Given the description of an element on the screen output the (x, y) to click on. 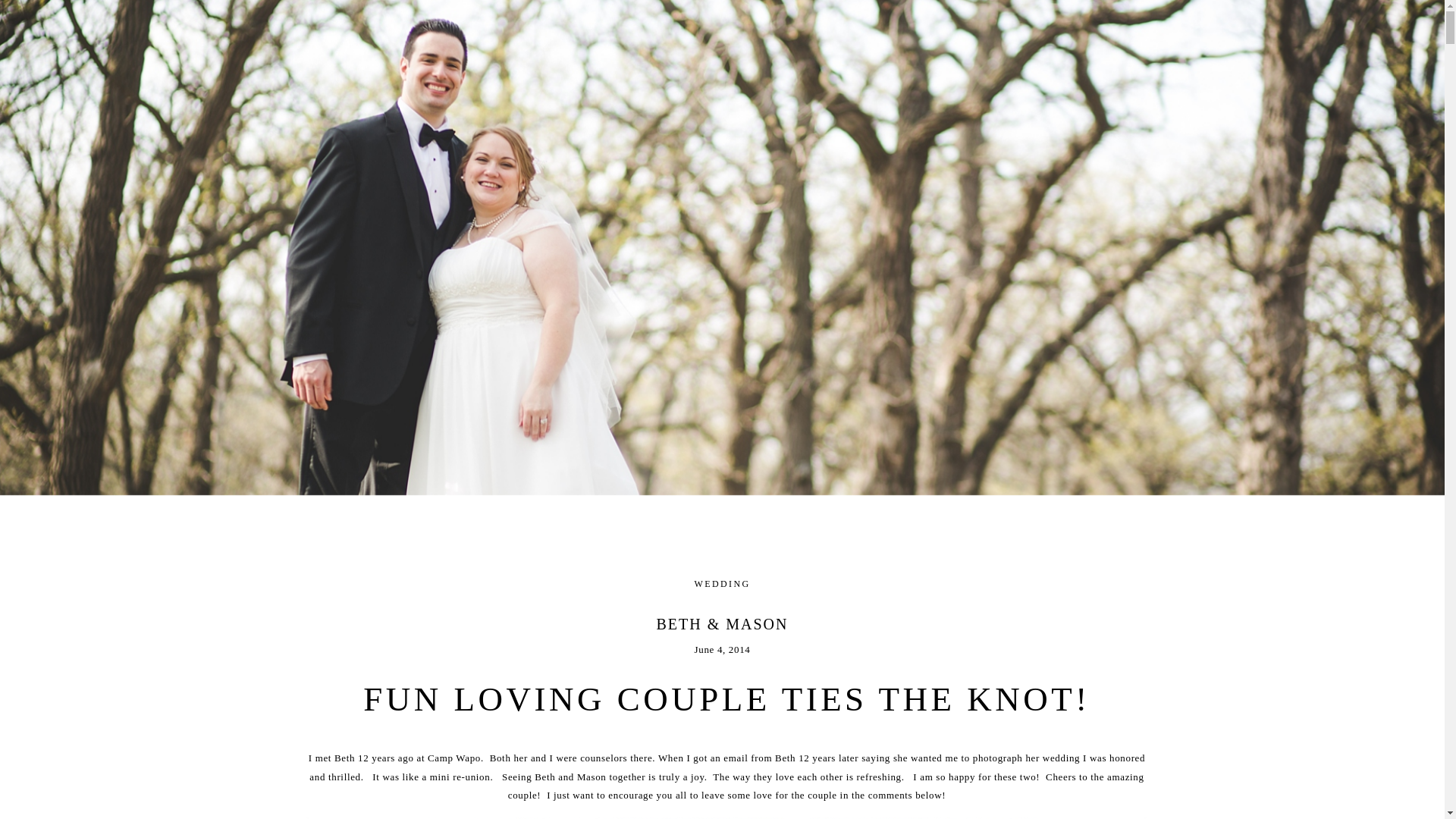
WEDDING (721, 583)
WEBSITE (525, 18)
CONTACT (722, 17)
JOURNAL (922, 18)
